Given the description of an element on the screen output the (x, y) to click on. 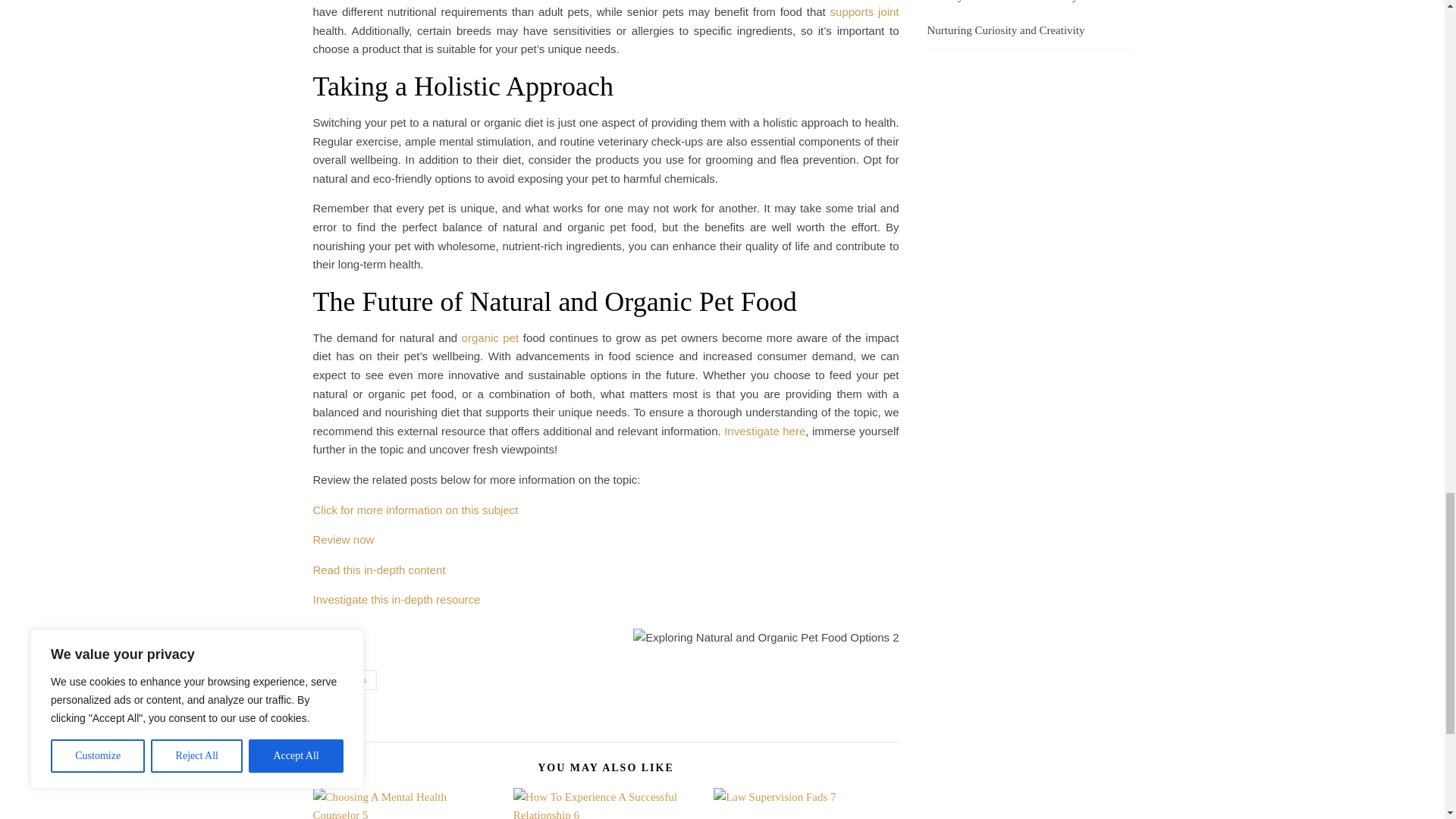
Review now (343, 539)
Click for more information on this subject (415, 509)
organic pet (490, 337)
Suggestions (344, 680)
supports joint (864, 11)
Investigate here (764, 431)
Read this in-depth content (379, 569)
Investigate this in-depth resource (396, 599)
